Given the description of an element on the screen output the (x, y) to click on. 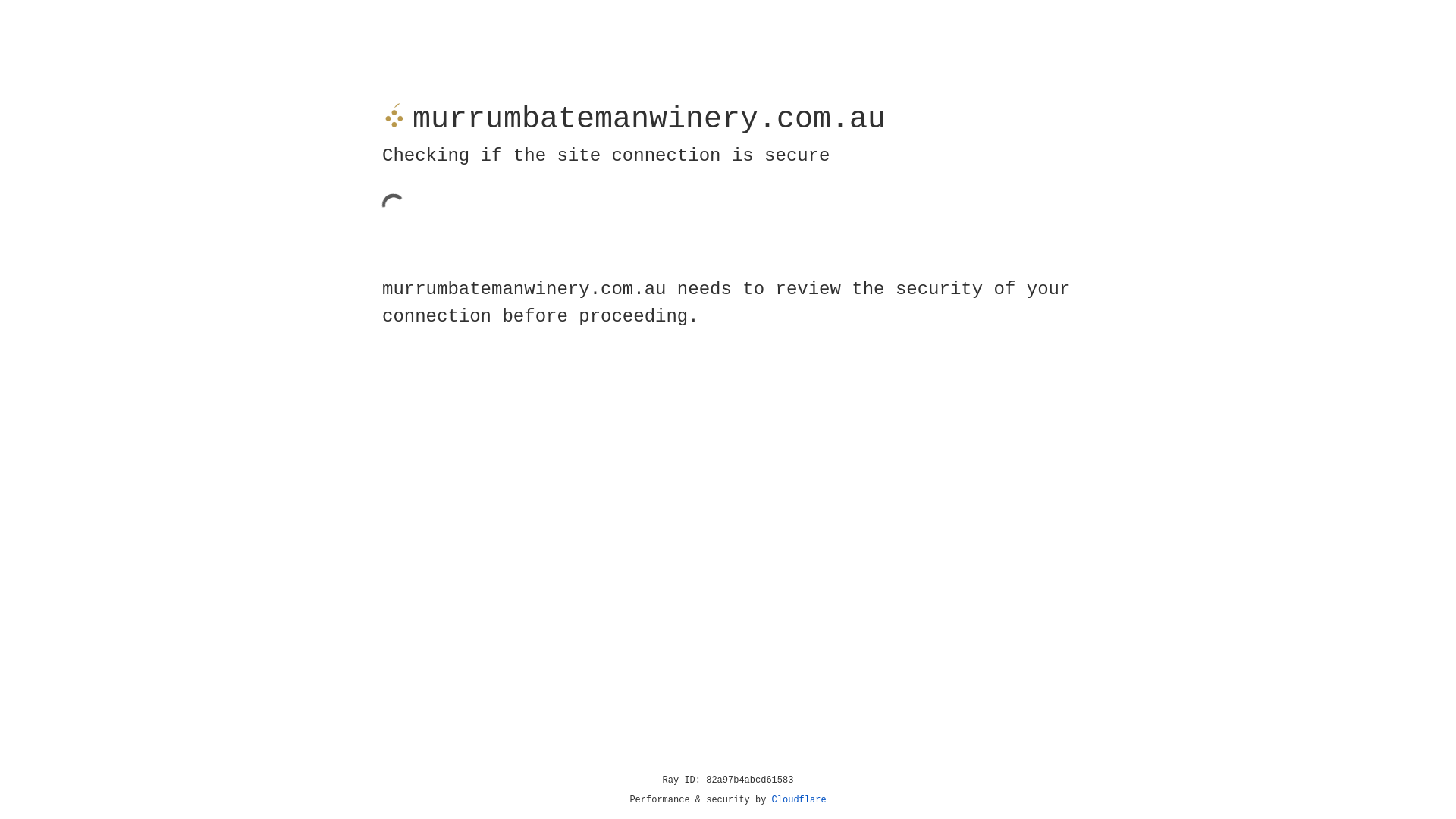
Cloudflare Element type: text (798, 799)
